Given the description of an element on the screen output the (x, y) to click on. 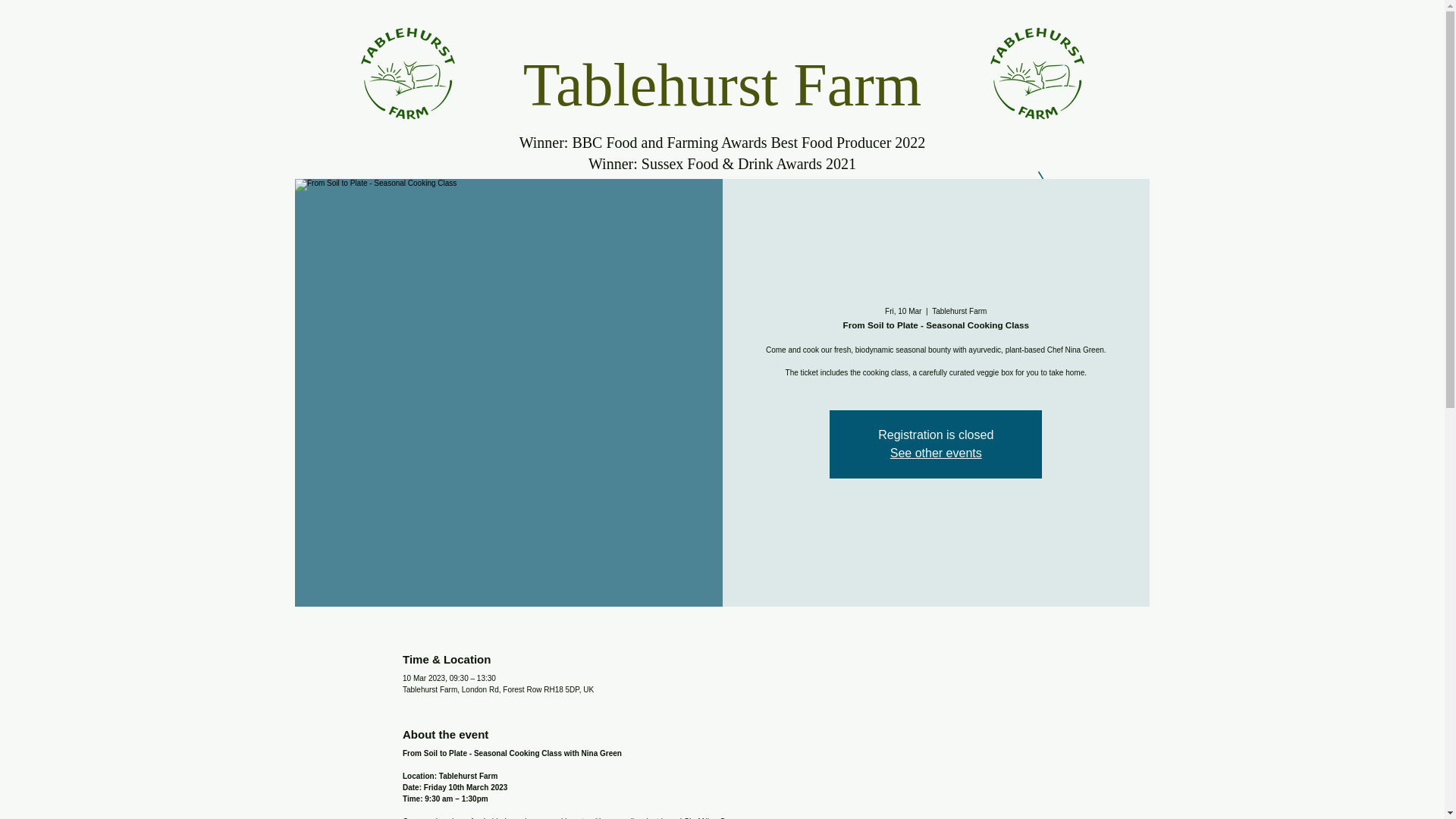
See other events (935, 452)
About Us (826, 216)
Events (751, 216)
Blog (970, 216)
HOME (388, 216)
Recipes (904, 216)
The Farm Shop (478, 216)
Contact us (1043, 216)
We're Hiring! (665, 216)
